Given the description of an element on the screen output the (x, y) to click on. 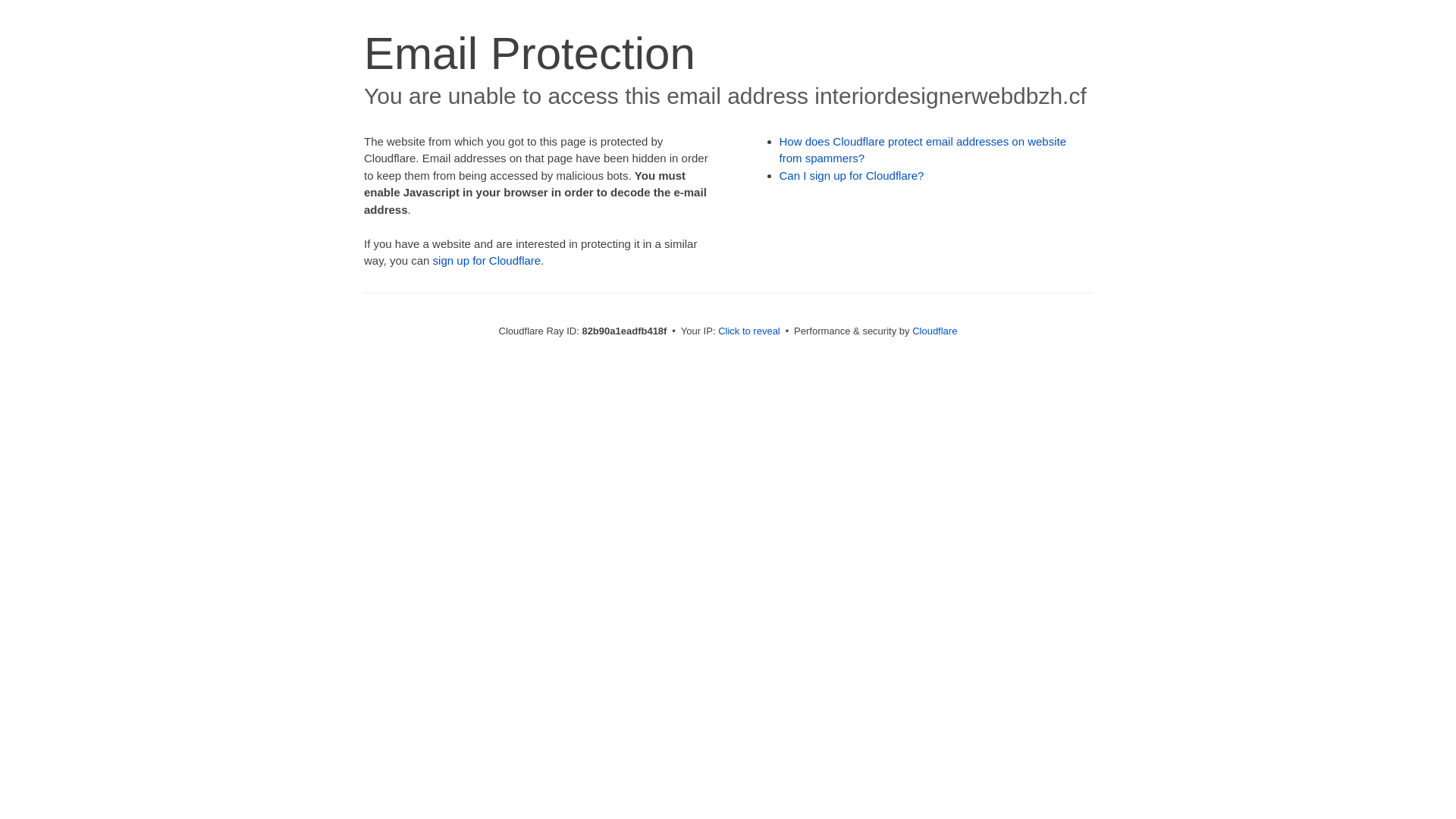
Click to reveal Element type: text (749, 330)
sign up for Cloudflare Element type: text (487, 260)
Cloudflare Element type: text (934, 330)
Can I sign up for Cloudflare? Element type: text (851, 175)
